Given the description of an element on the screen output the (x, y) to click on. 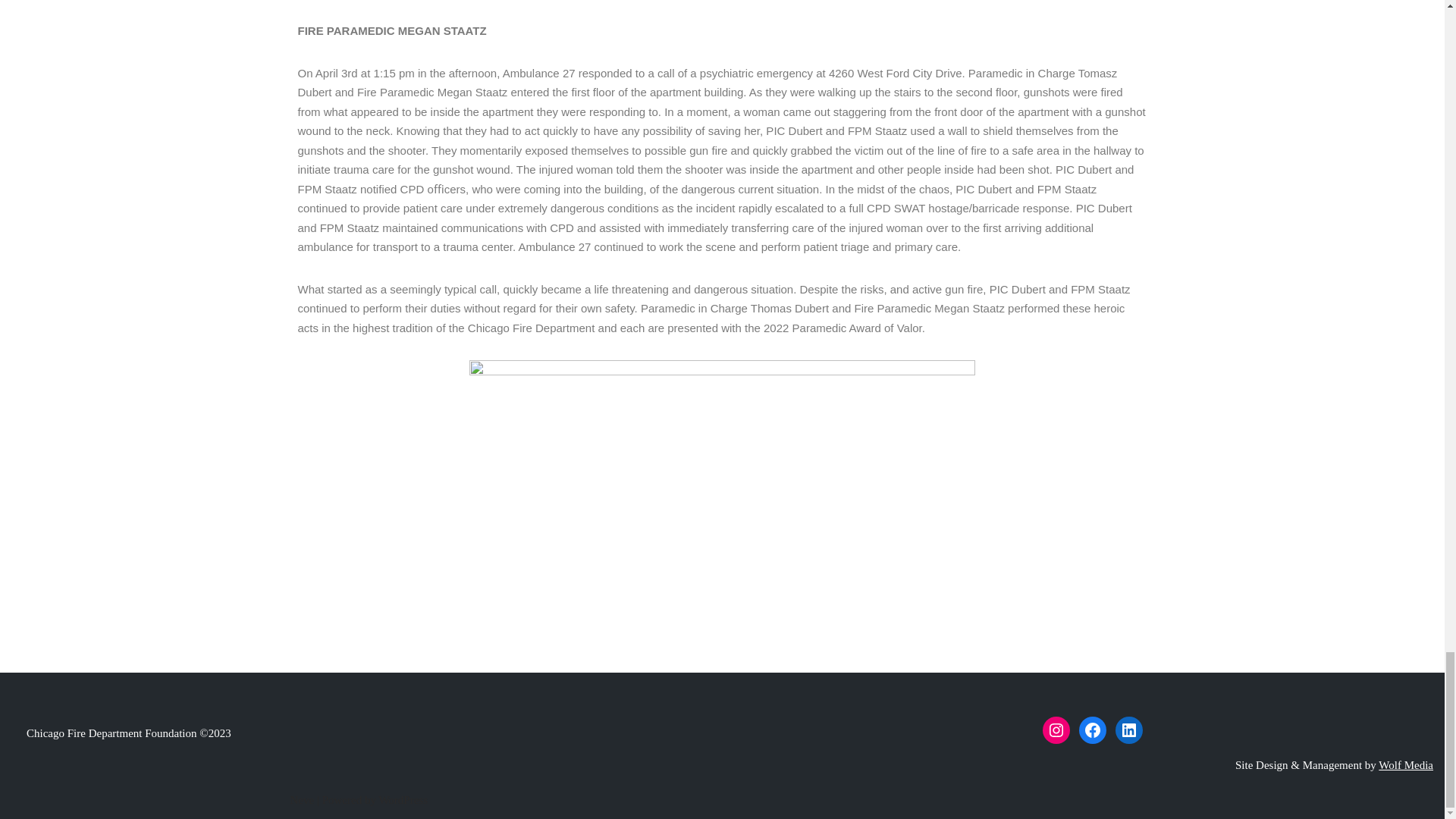
Neve (301, 799)
WordPress (403, 799)
Wolf Media (1405, 765)
